Given the description of an element on the screen output the (x, y) to click on. 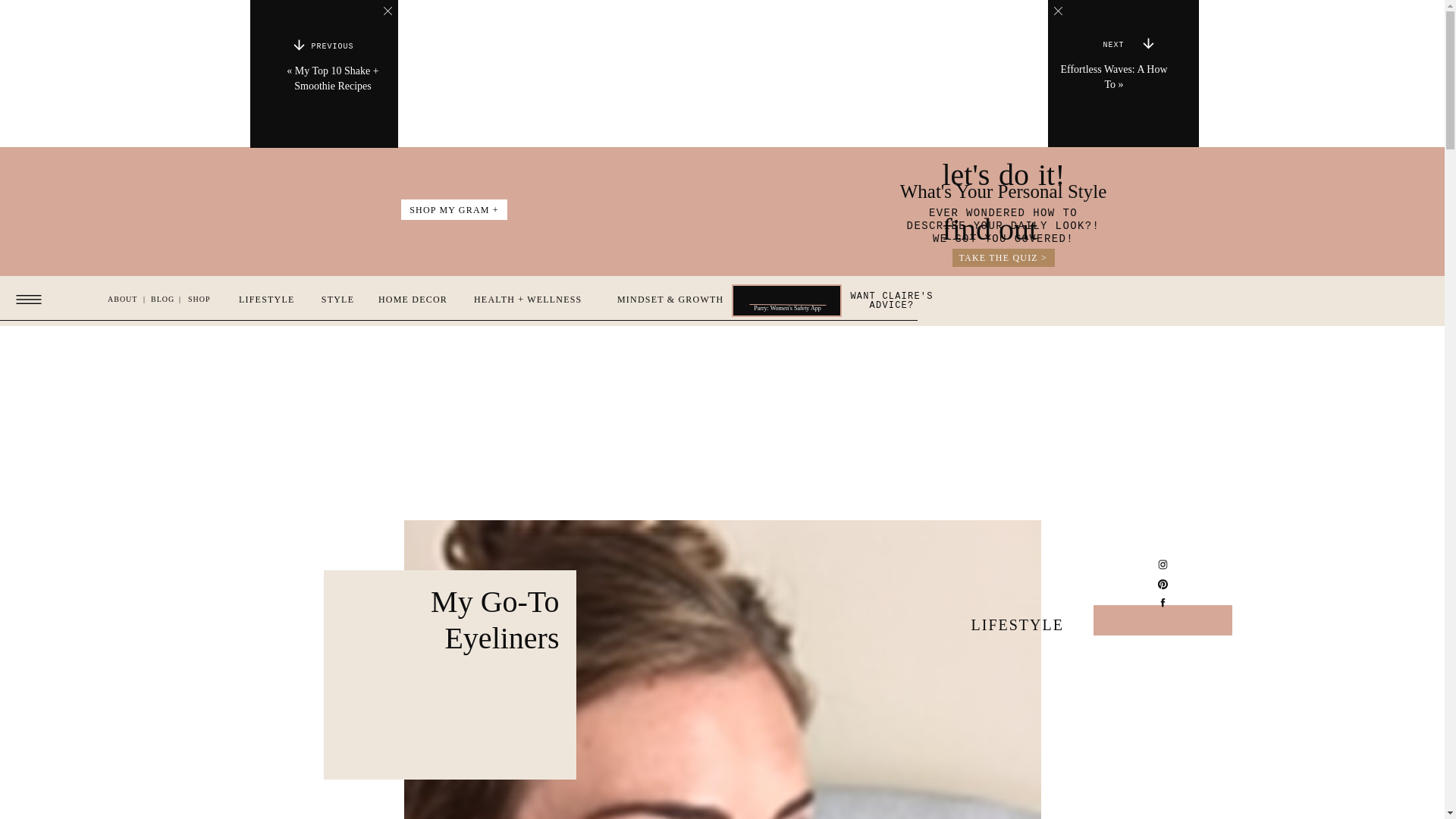
Effortless Waves: A How To (1113, 76)
PREVIOUS (332, 48)
NEXT (1114, 46)
My Go-To Eyeliners (1114, 46)
My Go-To Eyeliners (332, 48)
